Given the description of an element on the screen output the (x, y) to click on. 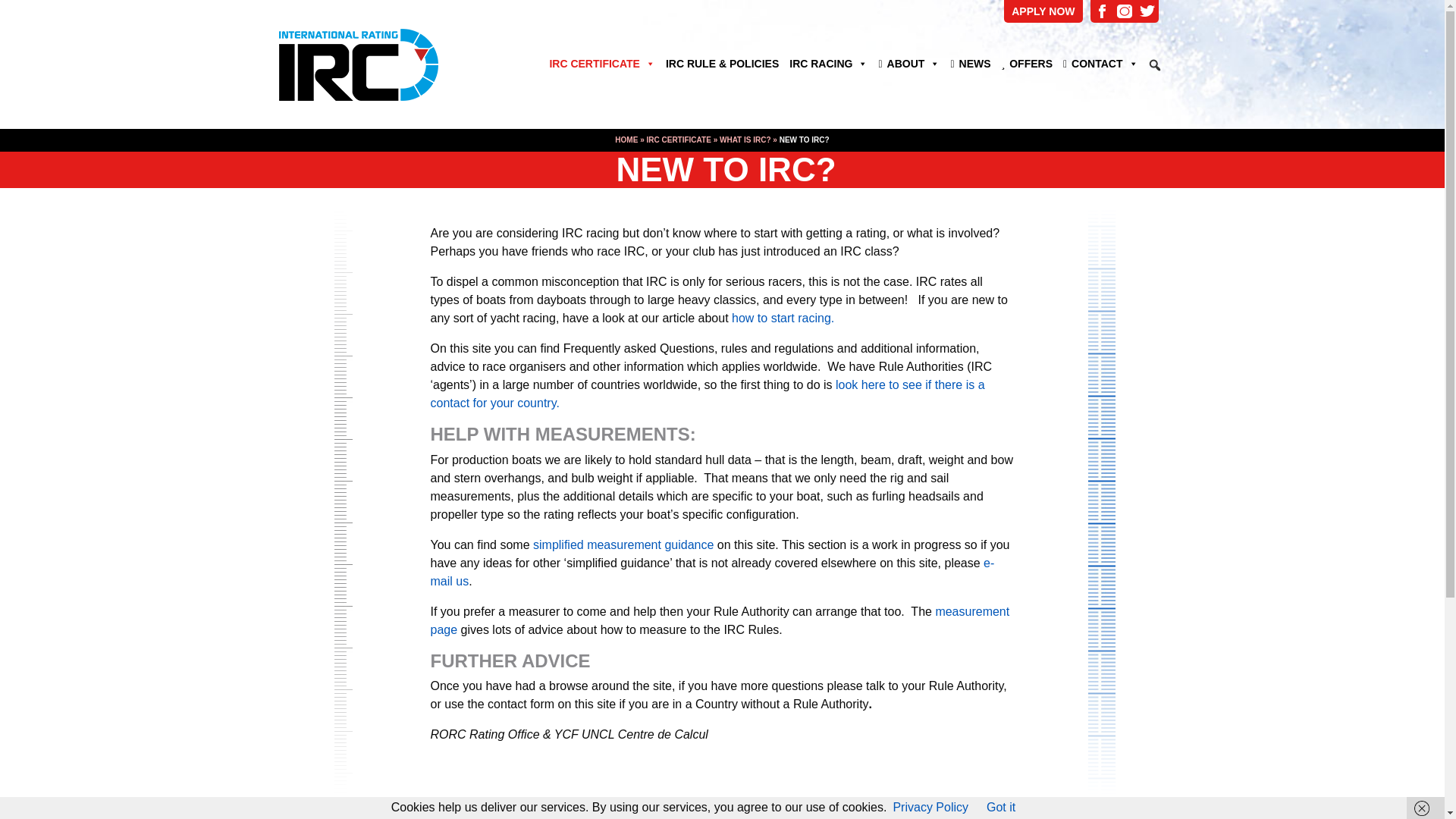
APPLY NOW (1042, 11)
ABOUT (908, 64)
IRC RACING (828, 64)
CONTACT (1100, 64)
Search (11, 6)
Apply for IRC Certification (1042, 11)
NEWS (969, 64)
IRC on Twitter (1146, 11)
IRC CERTIFICATE (602, 64)
OFFERS (1026, 64)
IRC on Facebook (1101, 11)
IRC on Instagram (1124, 11)
Logo (389, 64)
